Given the description of an element on the screen output the (x, y) to click on. 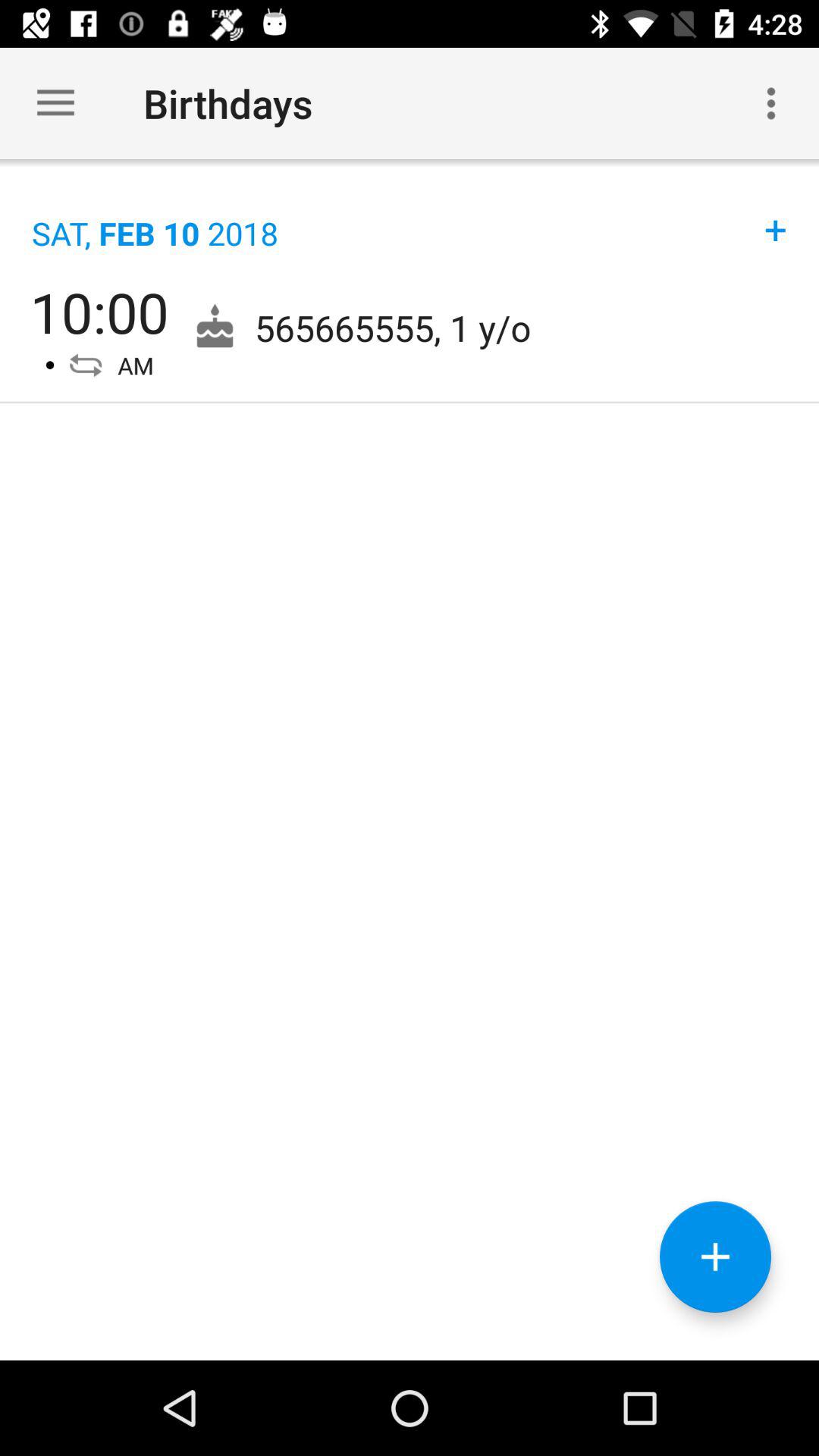
choose item above 565665555 1 y item (775, 214)
